Given the description of an element on the screen output the (x, y) to click on. 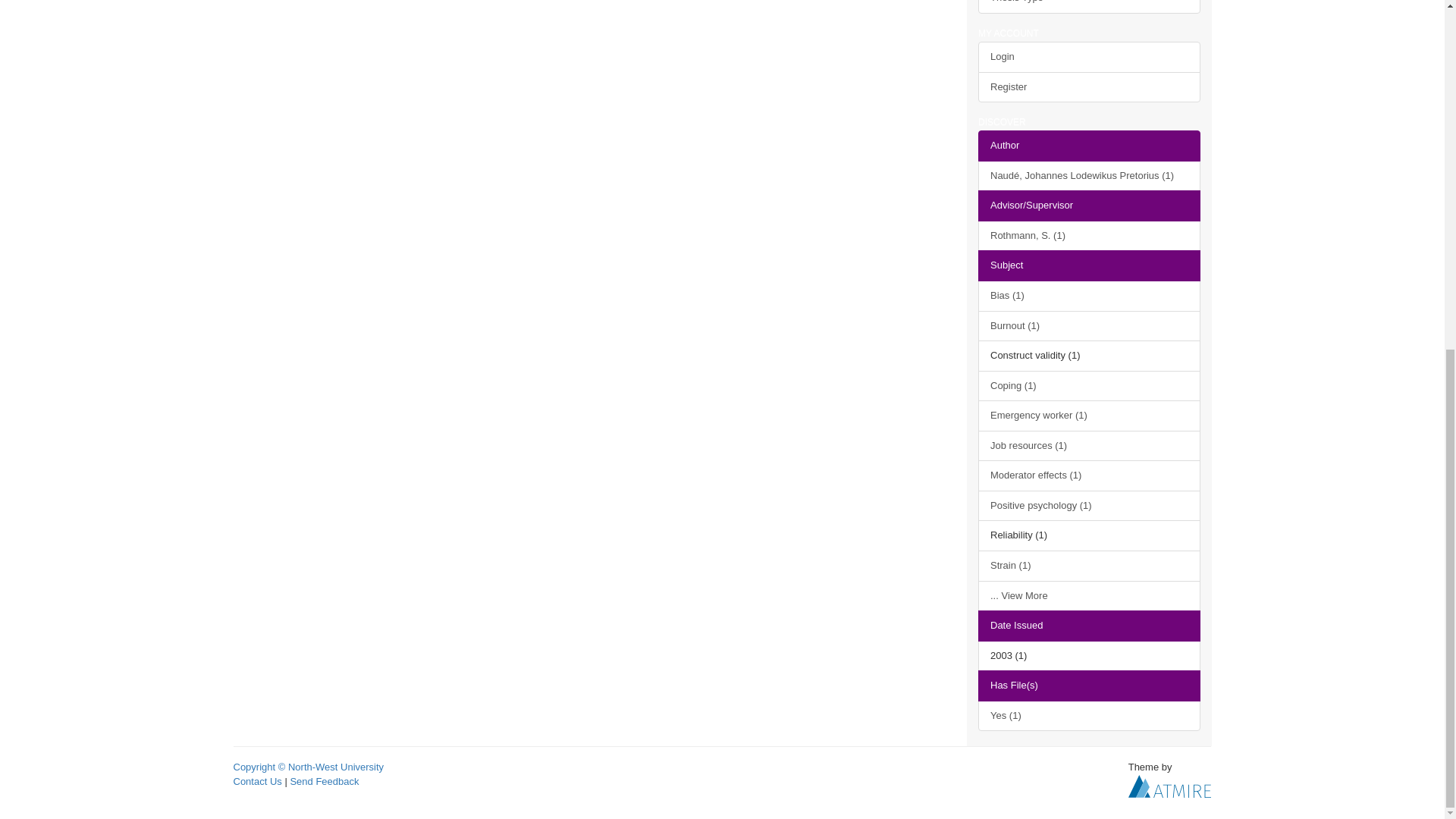
Atmire NV (1169, 785)
